Given the description of an element on the screen output the (x, y) to click on. 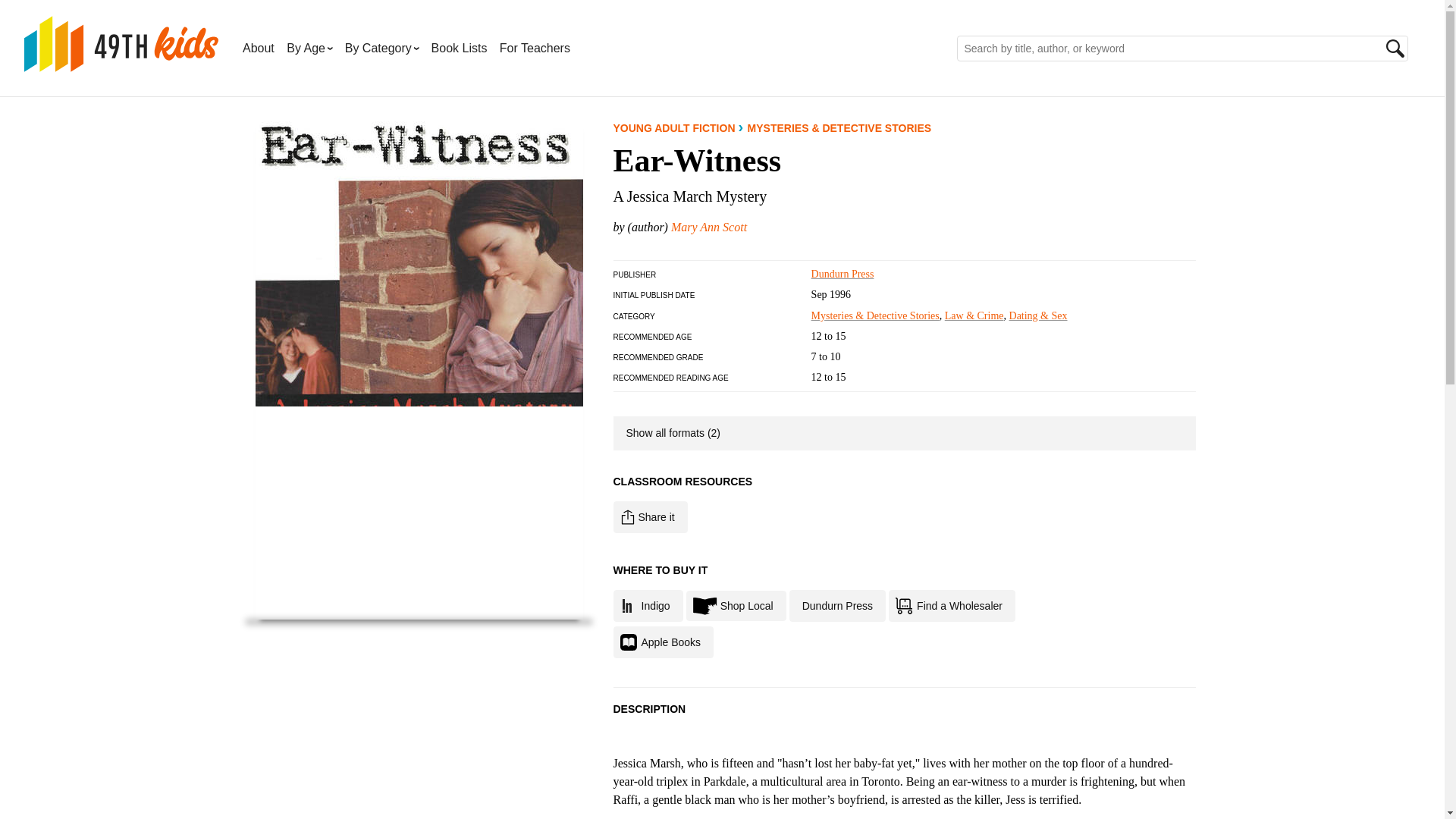
Apple Books (662, 642)
49th Kids: Thousands of Canadian-authored kids and YA books (121, 43)
49th Kids (121, 62)
Indigo (647, 605)
Buy at Apple Books (662, 642)
YOUNG ADULT FICTION (673, 128)
Share it (649, 517)
Search (1395, 48)
View more Mary Ann Scott books (708, 226)
Find an independent bookseller near you (735, 605)
on (622, 424)
Dundurn Press (842, 274)
Mary Ann Scott (708, 226)
Search (1395, 48)
